Given the description of an element on the screen output the (x, y) to click on. 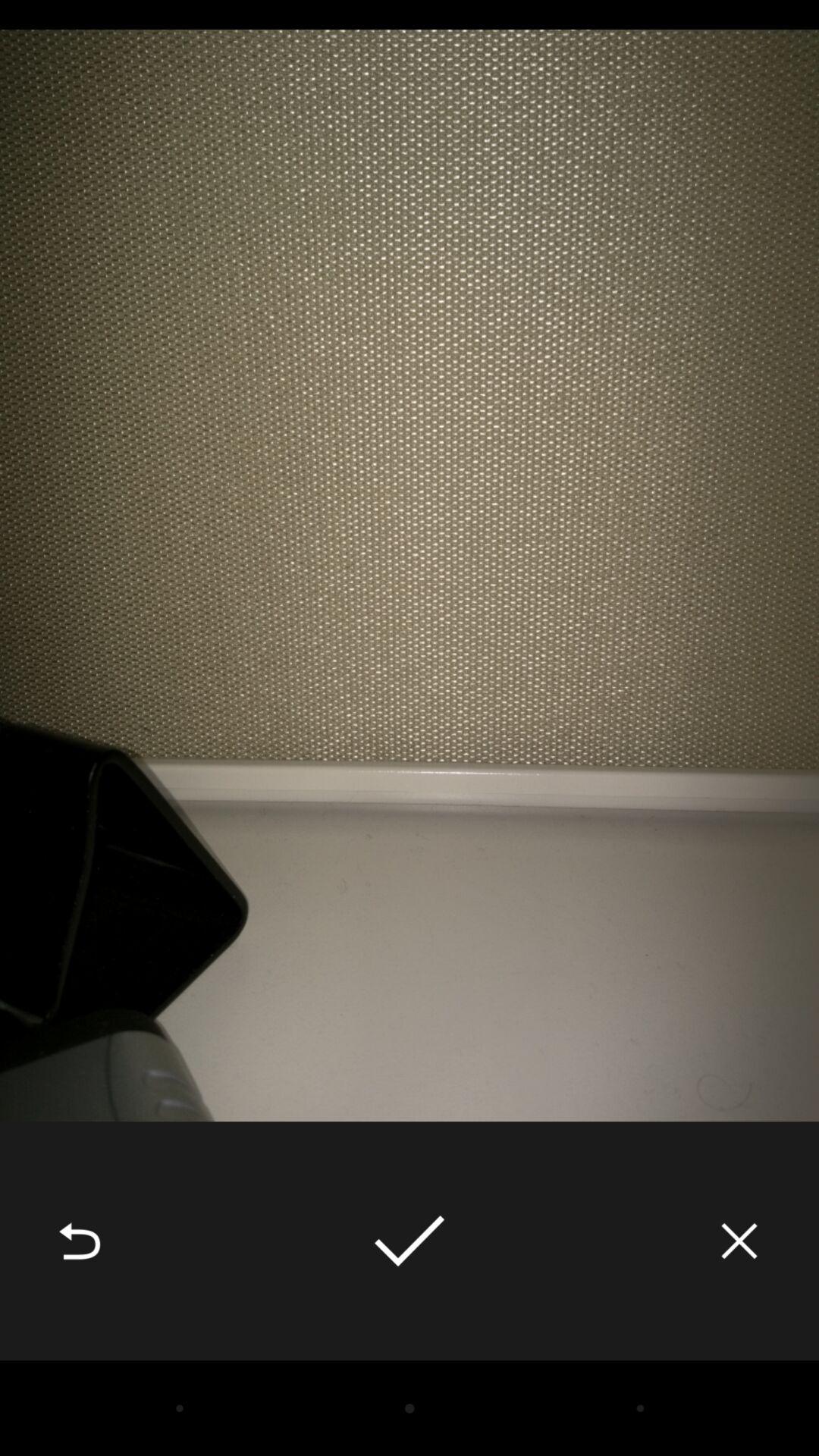
launch the item at the bottom right corner (739, 1240)
